Given the description of an element on the screen output the (x, y) to click on. 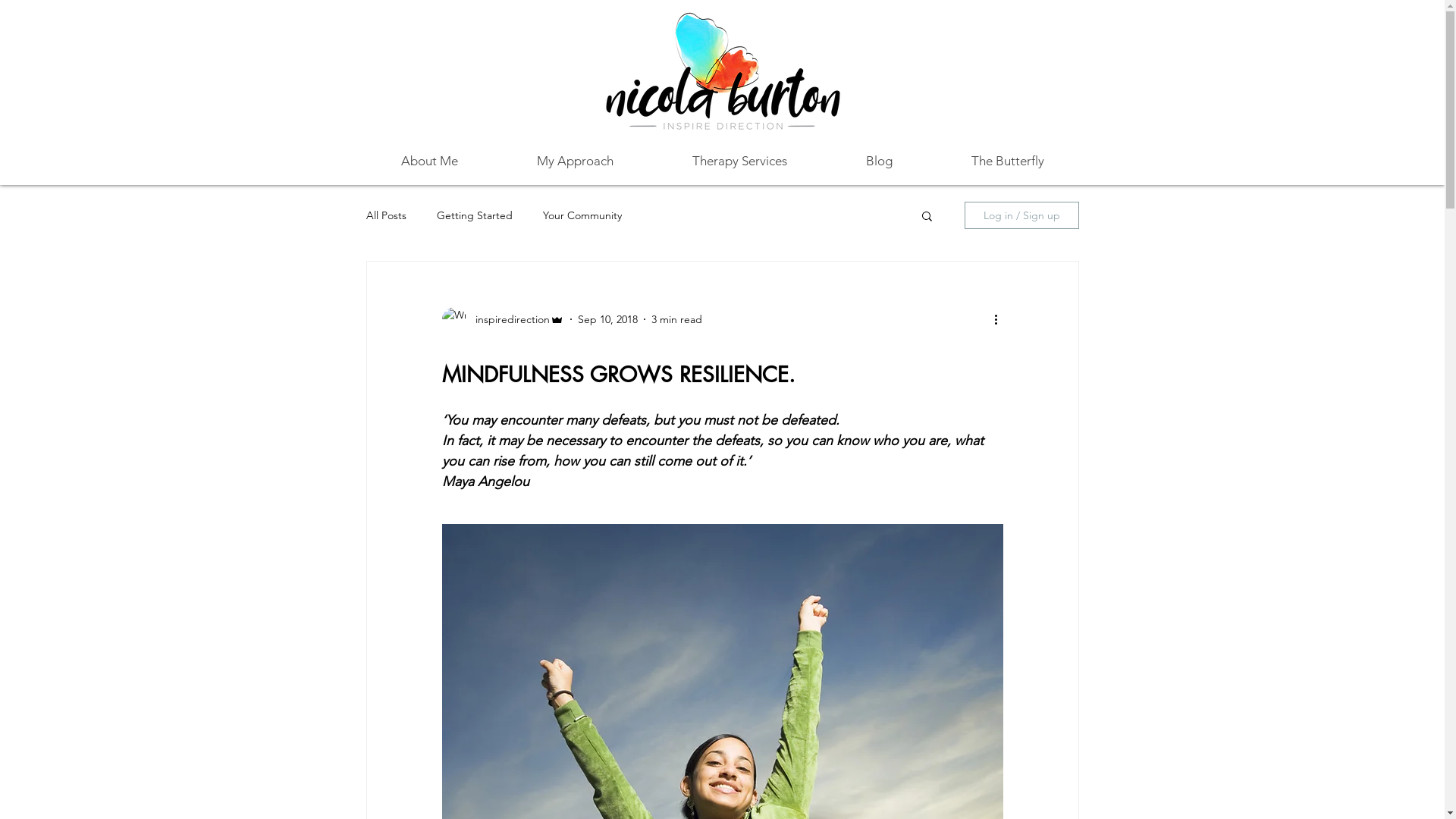
About Me Element type: text (428, 160)
The Butterfly Element type: text (1006, 160)
Therapy Services Element type: text (738, 160)
Blog Element type: text (878, 160)
My Approach Element type: text (574, 160)
Your Community Element type: text (581, 215)
Getting Started Element type: text (474, 215)
All Posts Element type: text (385, 215)
Log in / Sign up Element type: text (1021, 215)
